Given the description of an element on the screen output the (x, y) to click on. 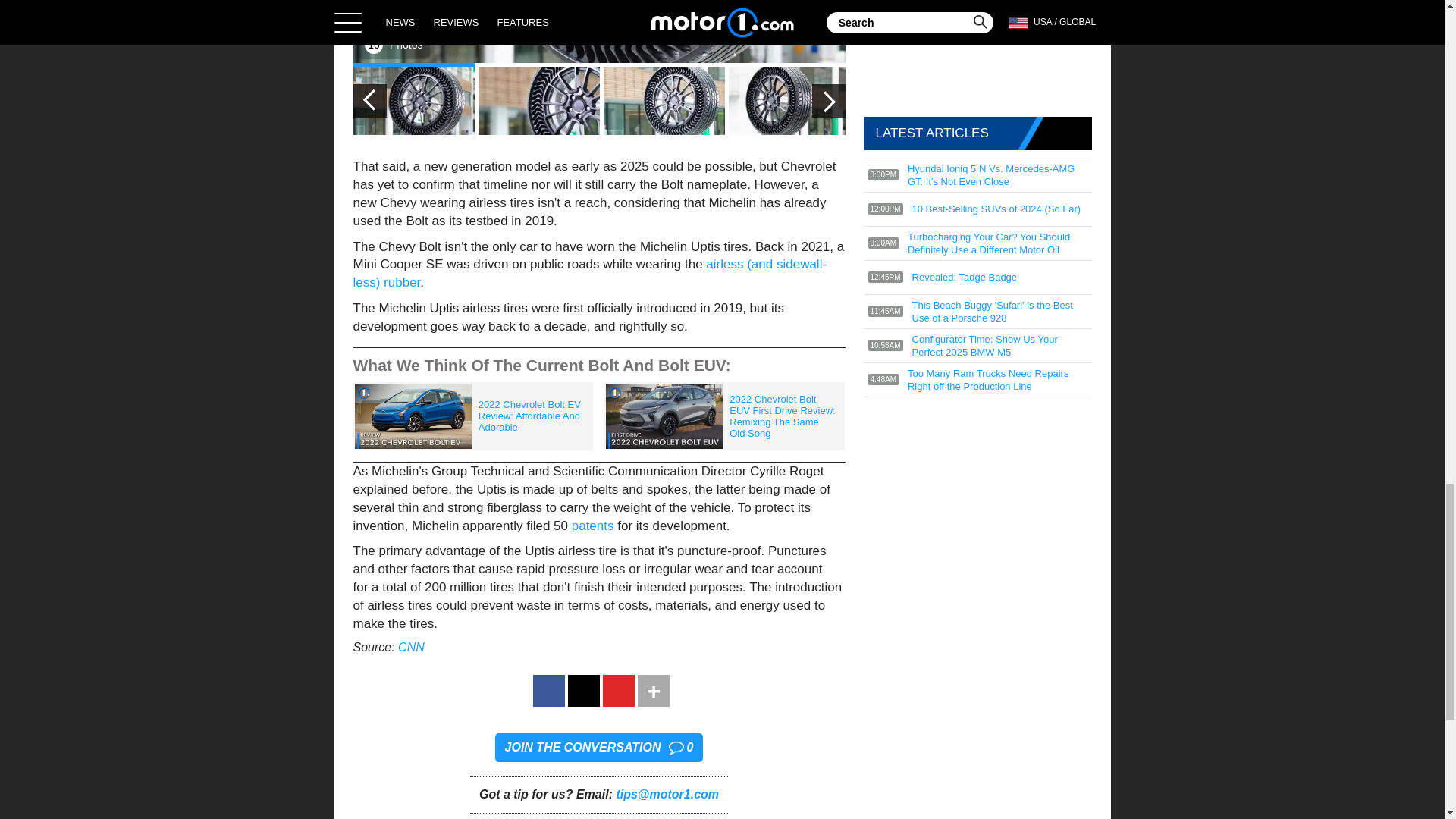
2022 Chevrolet Bolt EV Review: Affordable And Adorable (473, 416)
patents (593, 525)
